Given the description of an element on the screen output the (x, y) to click on. 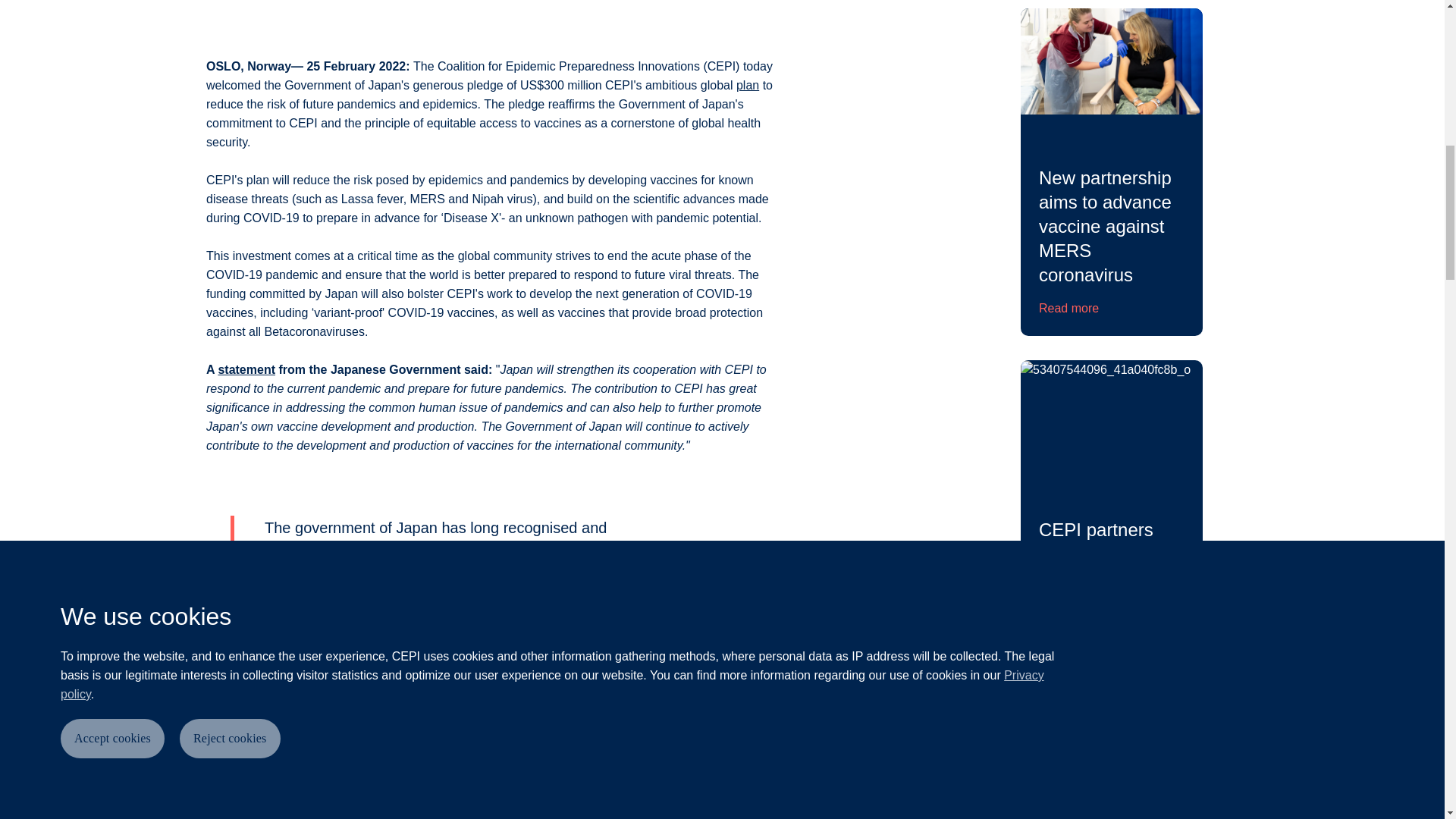
Read more (1069, 308)
plan (747, 84)
statement (245, 369)
Read more (1069, 660)
